Given the description of an element on the screen output the (x, y) to click on. 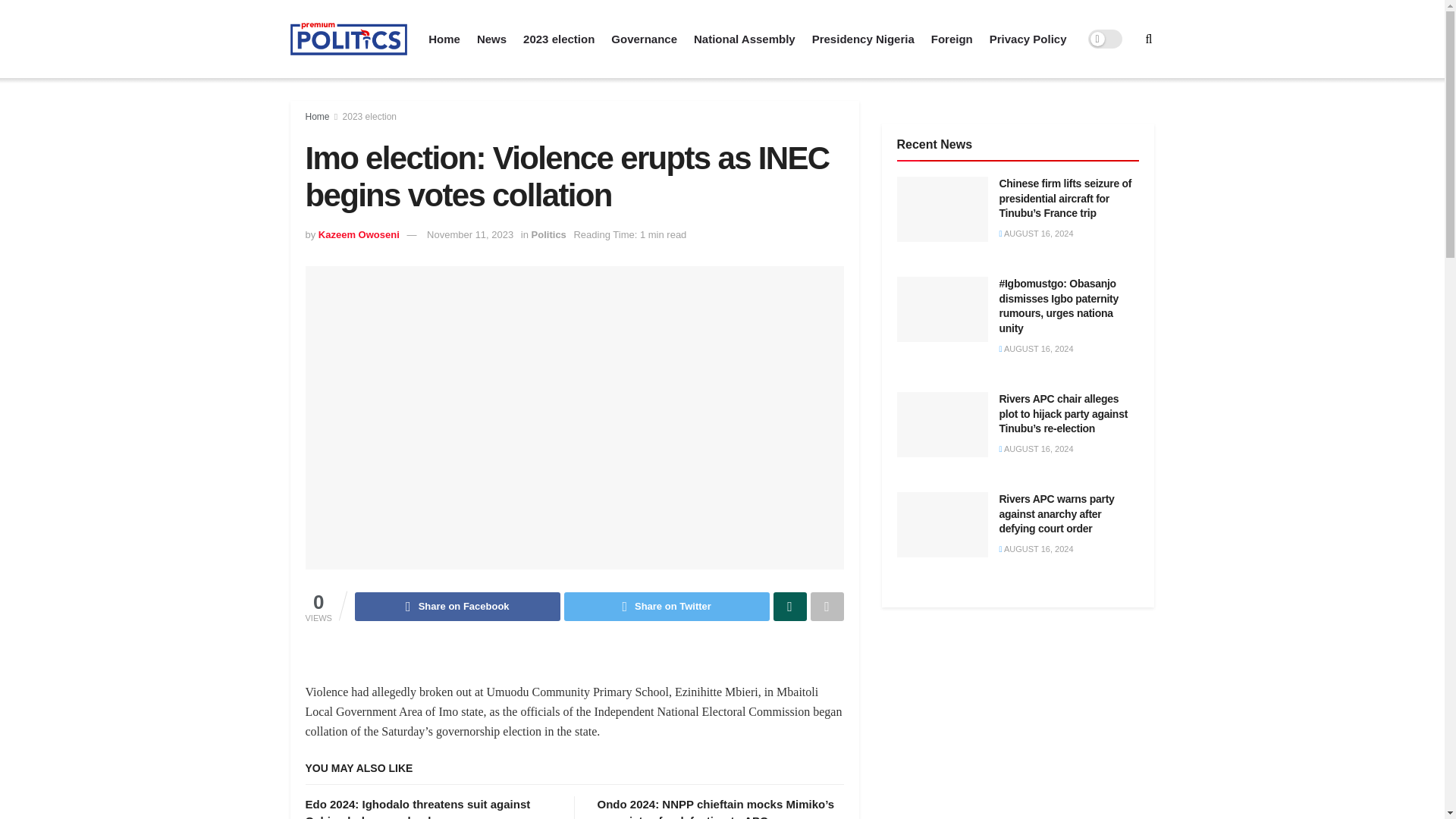
2023 election (558, 38)
Kazeem Owoseni (358, 234)
Share on Facebook (457, 606)
Home (316, 116)
November 11, 2023 (469, 234)
Presidency Nigeria (863, 38)
2023 election (369, 116)
Share on Twitter (667, 606)
Privacy Policy (1028, 38)
Politics (548, 234)
